Given the description of an element on the screen output the (x, y) to click on. 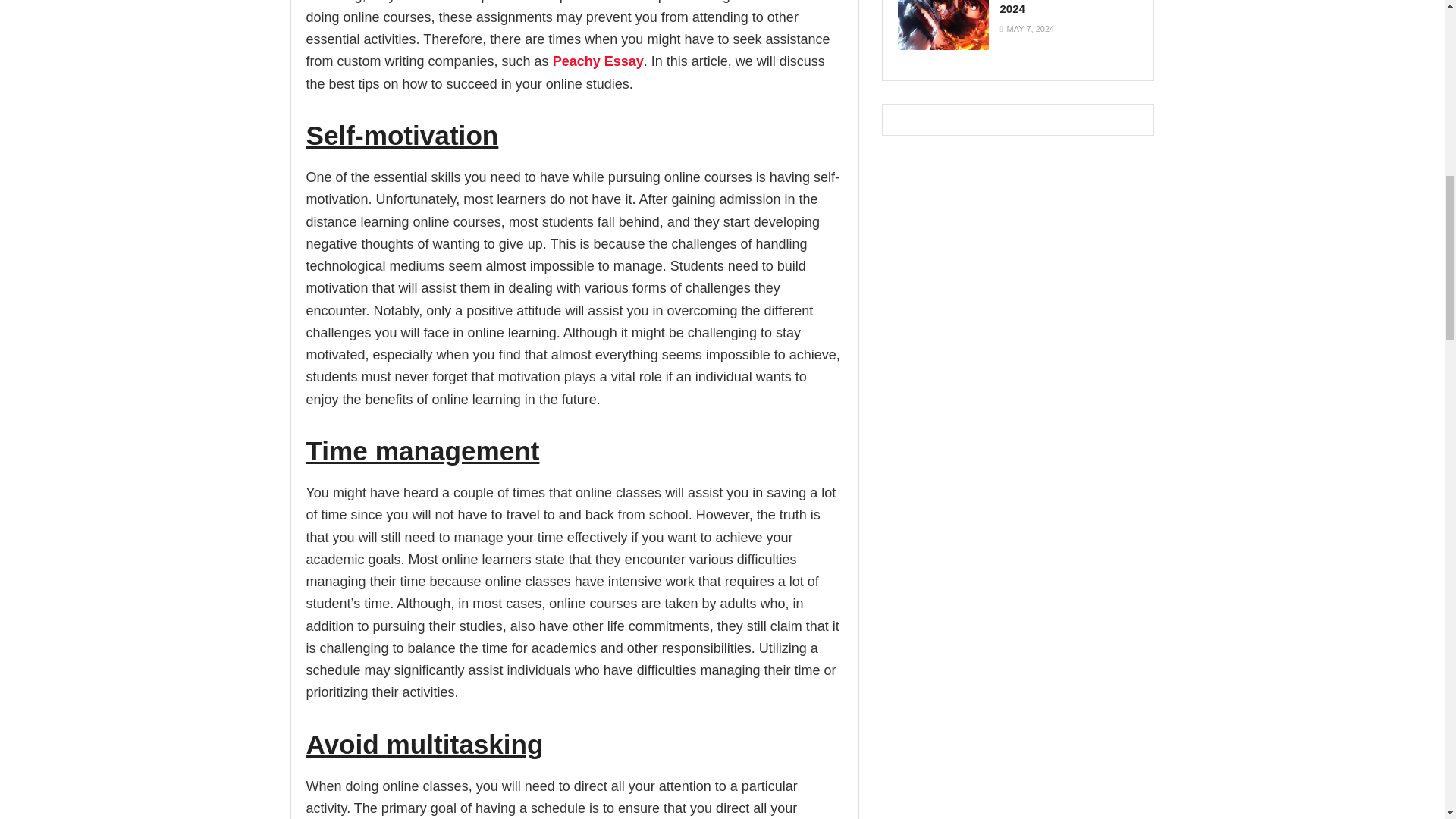
Peachy Essay (598, 61)
